Given the description of an element on the screen output the (x, y) to click on. 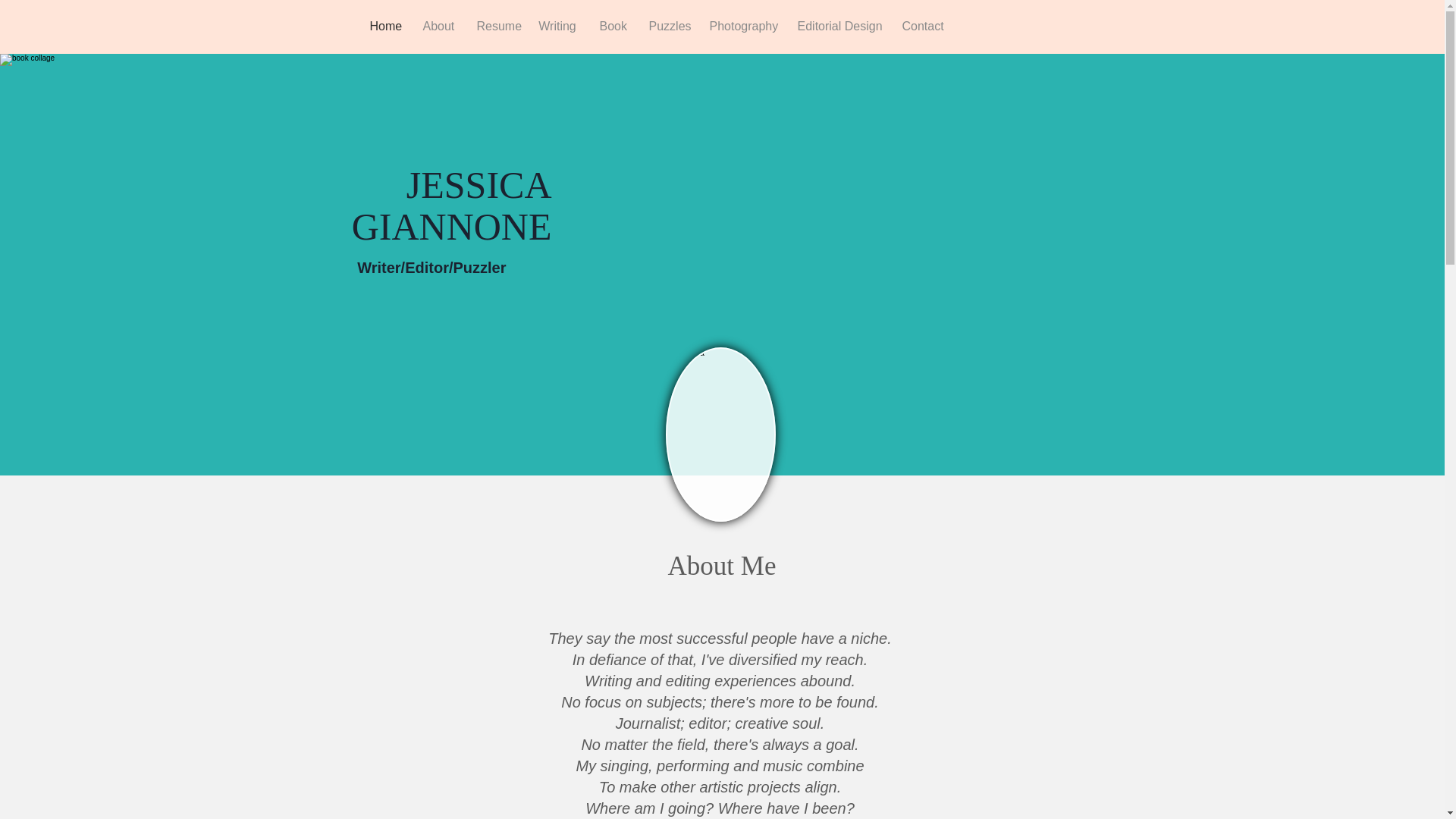
Photography (741, 26)
Home (384, 26)
Writing (556, 26)
Editorial Design (837, 26)
Resume (496, 26)
Book (612, 26)
Contact (921, 26)
About (437, 26)
Puzzles (667, 26)
